Given the description of an element on the screen output the (x, y) to click on. 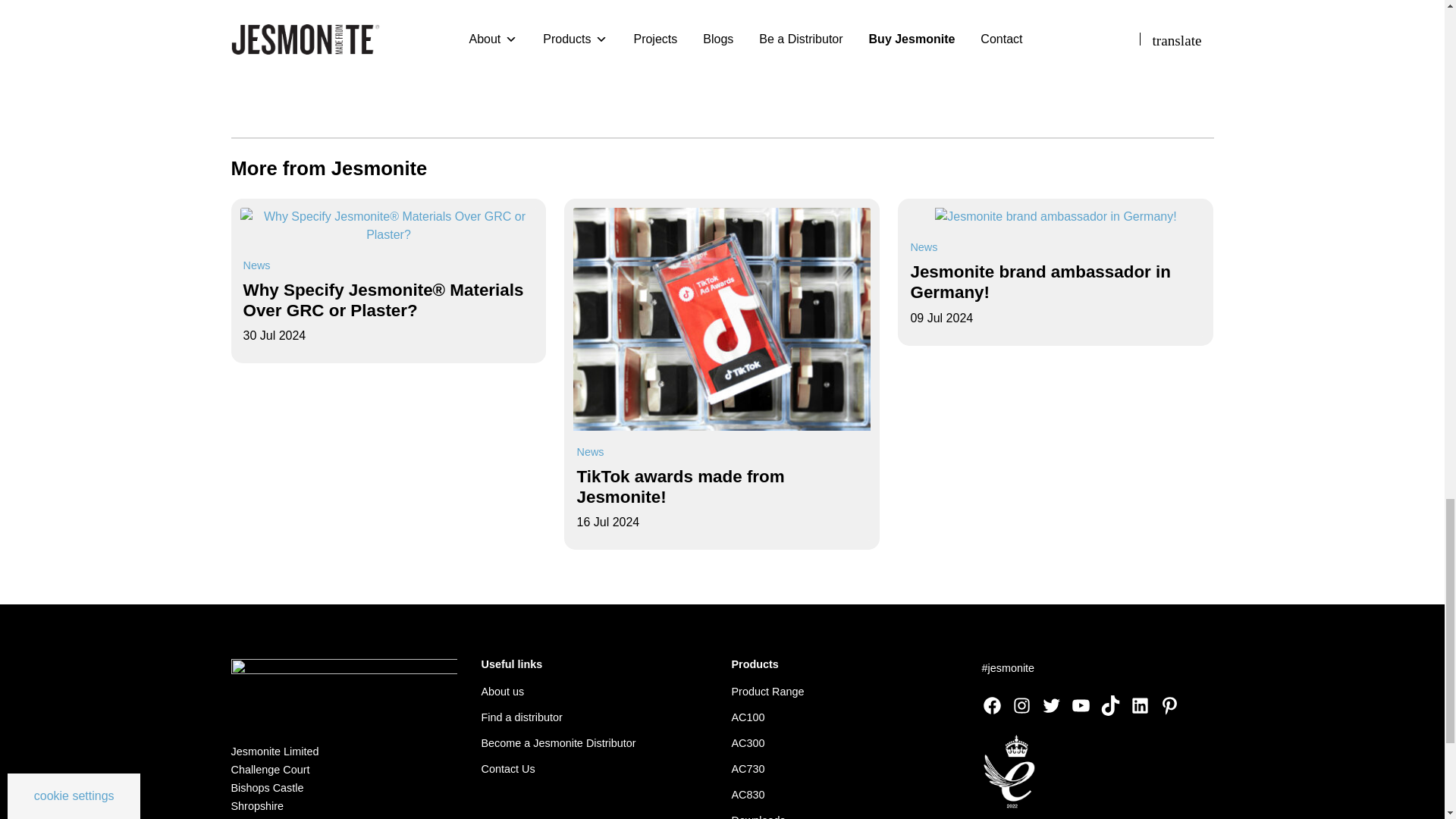
Email (242, 52)
Share on Twitter (277, 52)
Share on Facebook (312, 52)
TikTok awards made from Jesmonite! (680, 486)
TikTok awards made from Jesmonite! (721, 318)
Jesmonite brand ambassador in Germany! (1055, 215)
Jesmonite brand ambassador in Germany! (1040, 282)
Share on LinkedIn (347, 52)
